Given the description of an element on the screen output the (x, y) to click on. 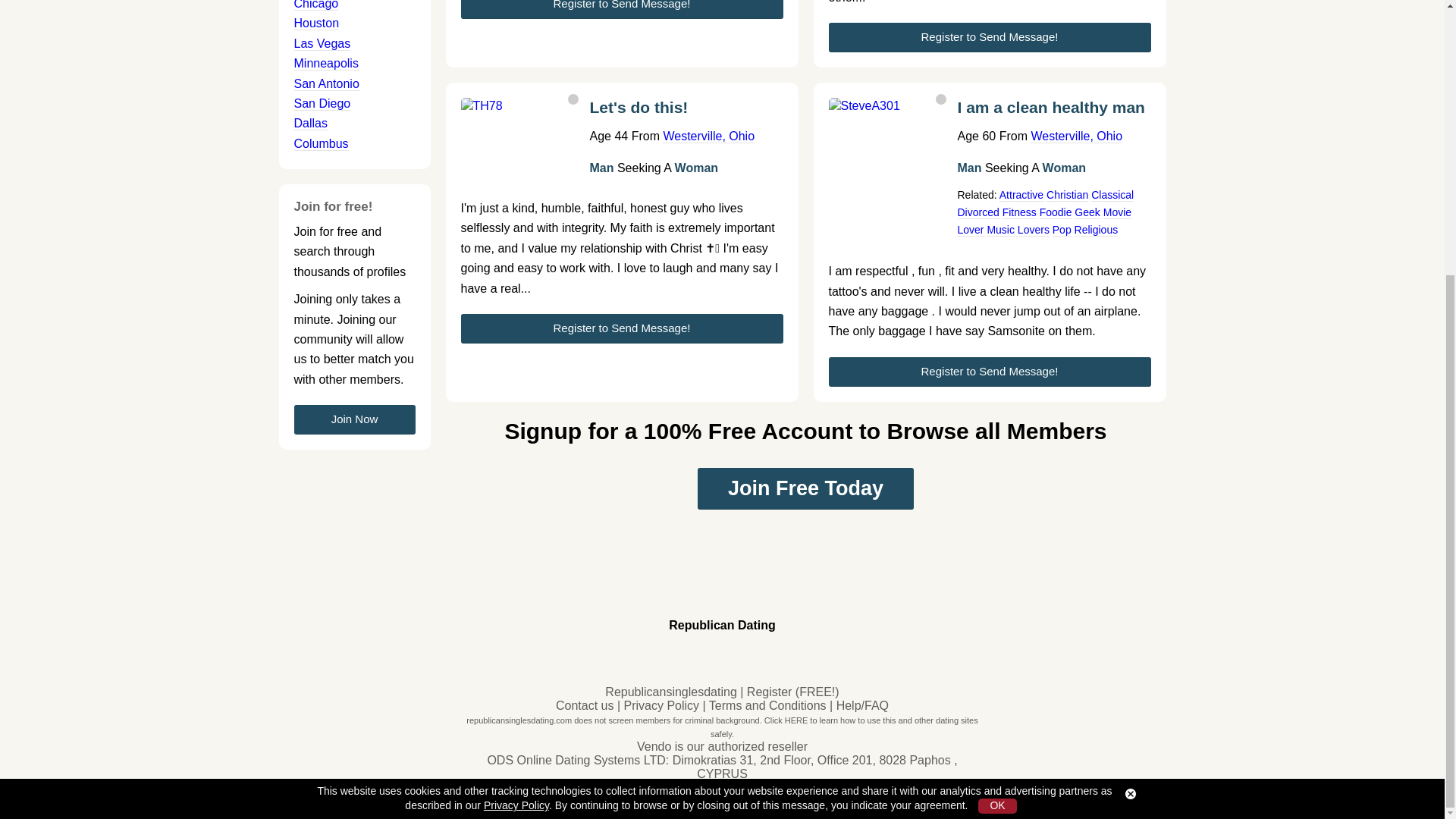
Let's do this! (686, 112)
Register to Send Message! (622, 9)
Close (1130, 388)
Register to Send Message! (989, 37)
Westerville, Ohio (708, 136)
Minneapolis (326, 63)
Chicago (316, 5)
Las Vegas (322, 43)
Houston (316, 23)
OK (997, 400)
San Antonio (326, 83)
Dallas (310, 123)
Columbus (321, 143)
Register to Send Message! (622, 328)
San Diego (322, 103)
